Given the description of an element on the screen output the (x, y) to click on. 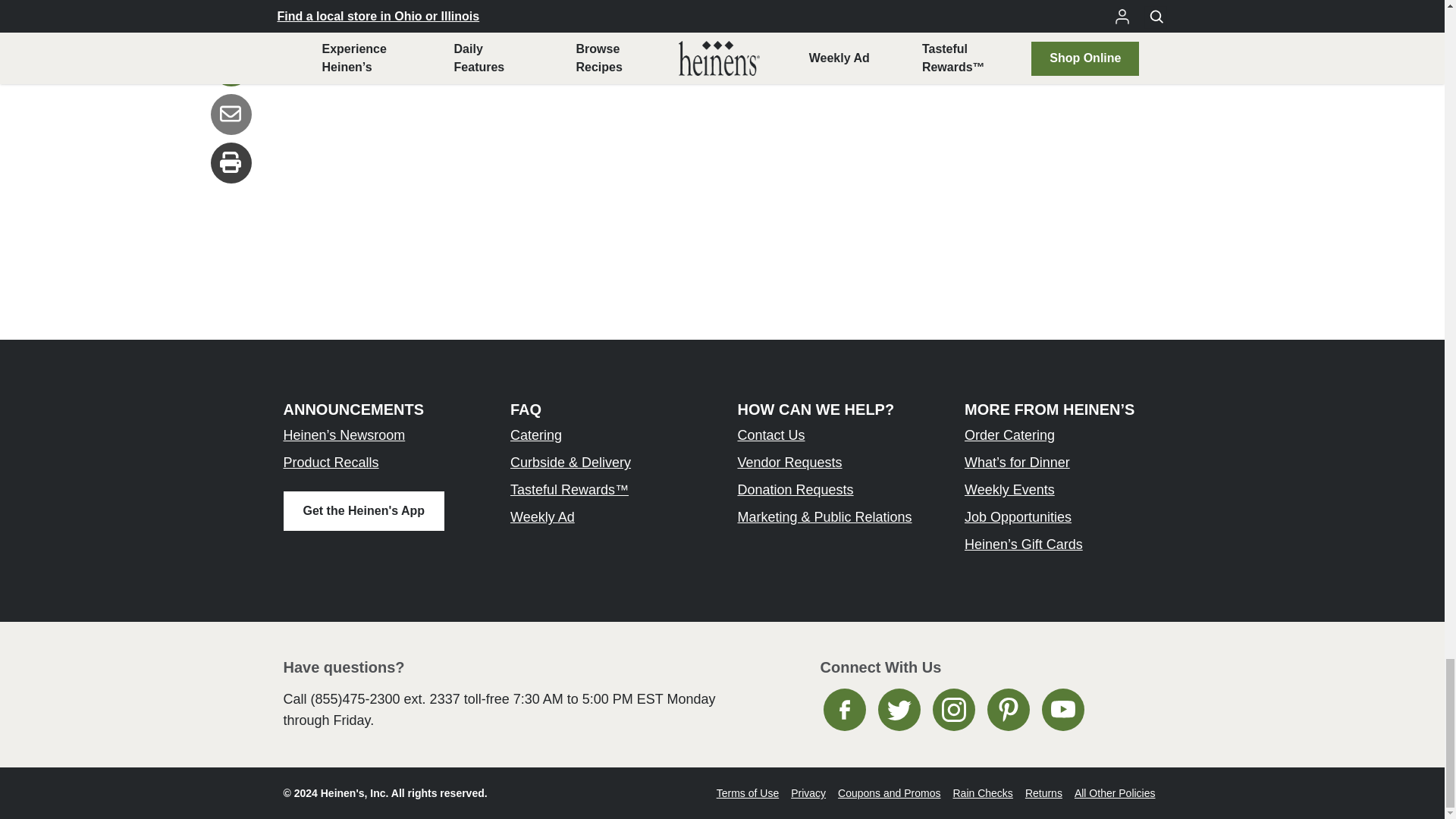
Connect with Heinen's on Facebook (845, 709)
Connect with Heinen's on Pinterest (1008, 709)
Connect with Heinen's on Instagram (954, 709)
Connect with Heinen's on YouTube (1063, 709)
Connect with Heinen's on Twitter (898, 709)
